Given the description of an element on the screen output the (x, y) to click on. 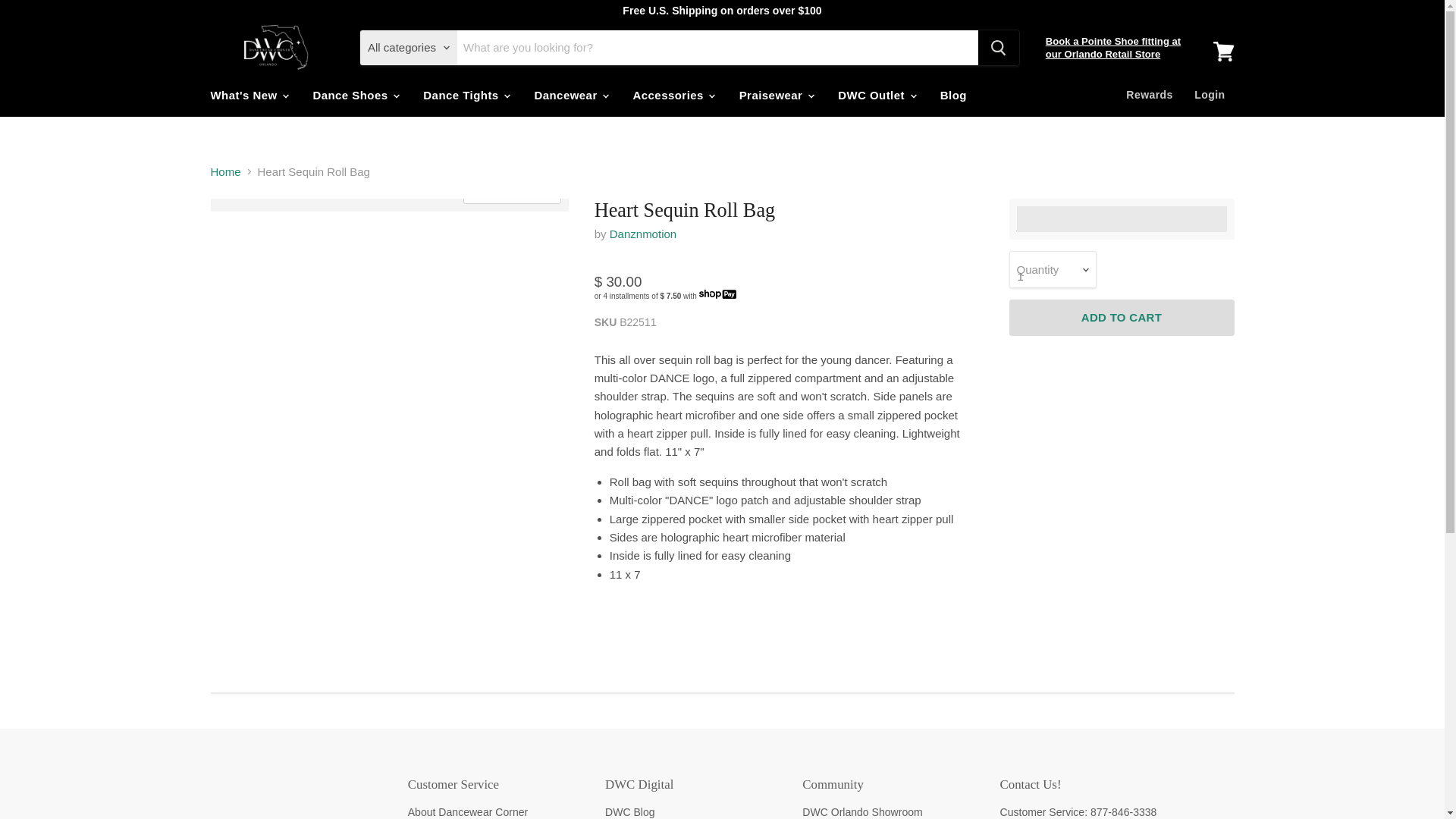
Book a Pointe Shoe fitting at our Orlando Retail Store (1112, 47)
What's New (248, 94)
View cart (1223, 51)
Dance Shoes (355, 94)
Danznmotion (643, 233)
